Given the description of an element on the screen output the (x, y) to click on. 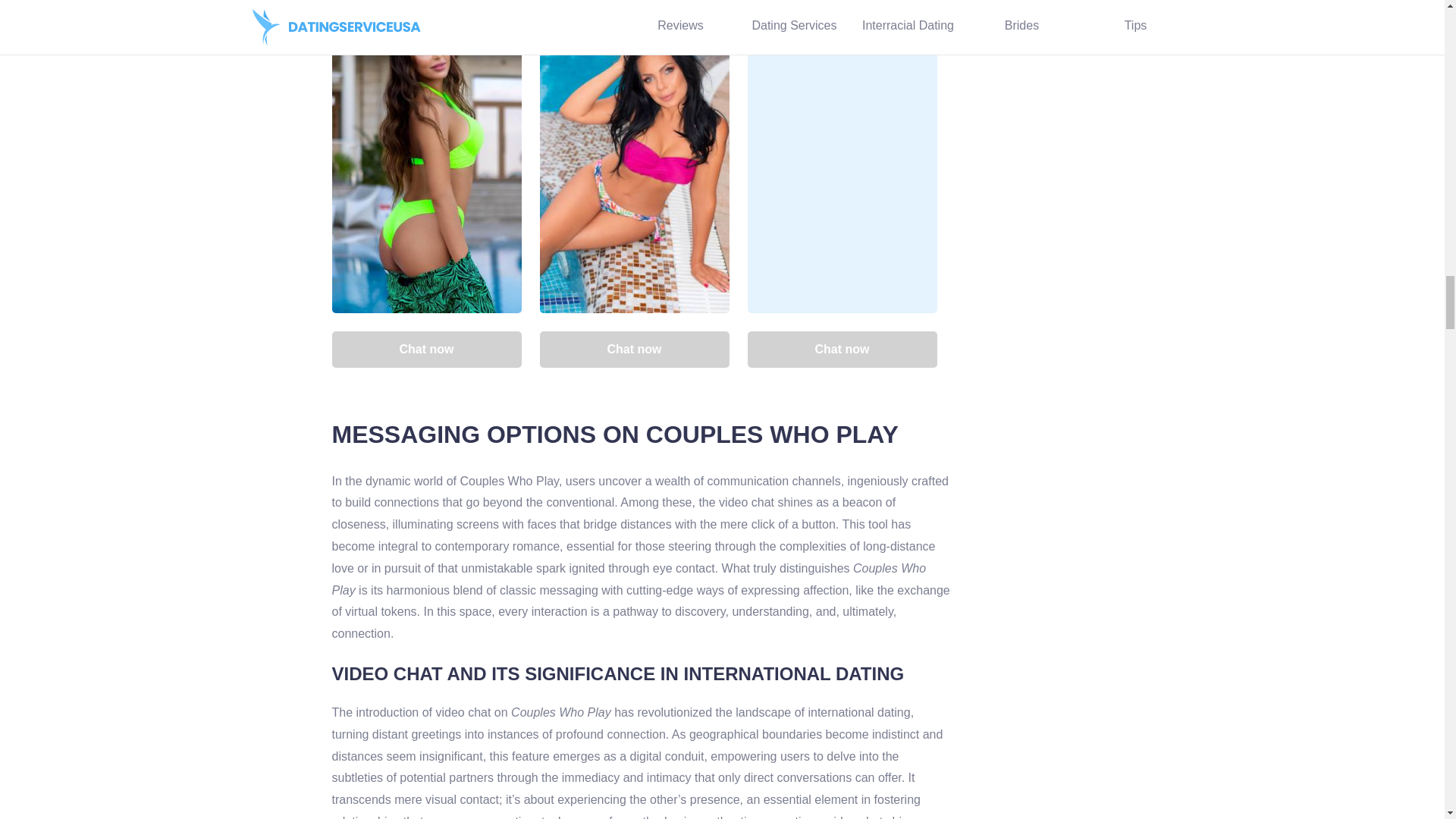
Chat now (426, 349)
Chat now (842, 349)
Chat now (634, 349)
